Given the description of an element on the screen output the (x, y) to click on. 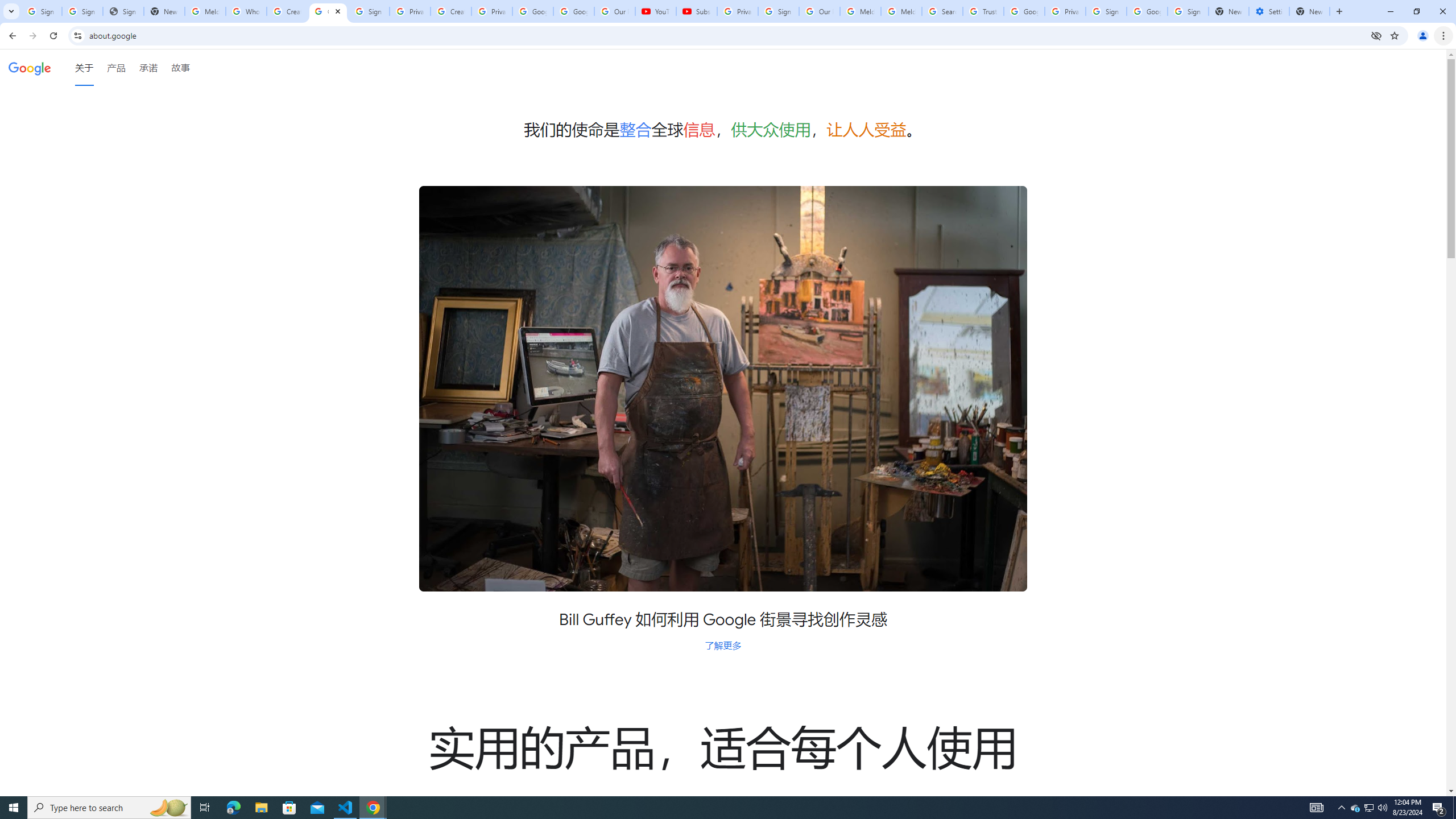
Google Cybersecurity Innovations - Google Safety Center (1146, 11)
Sign in - Google Accounts (81, 11)
